Given the description of an element on the screen output the (x, y) to click on. 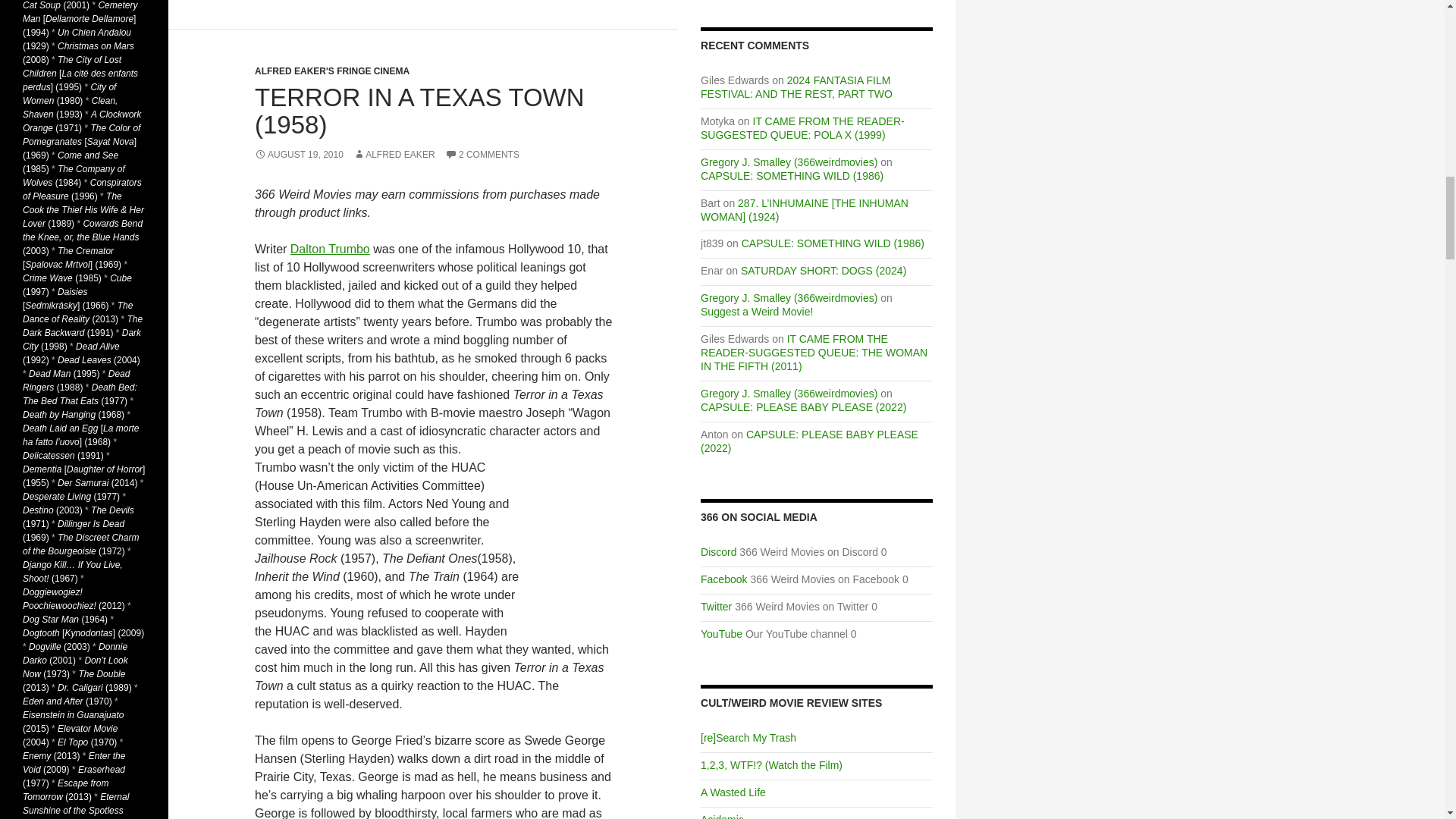
366 Weird Movies on Twitter (716, 606)
366 Weird Movies on Facebook (723, 579)
Our YouTube channel (721, 633)
A blog about obscure, trashy, fun, bad and fabulous films.  (732, 792)
366 Weird Movies on Discord (718, 551)
